Given the description of an element on the screen output the (x, y) to click on. 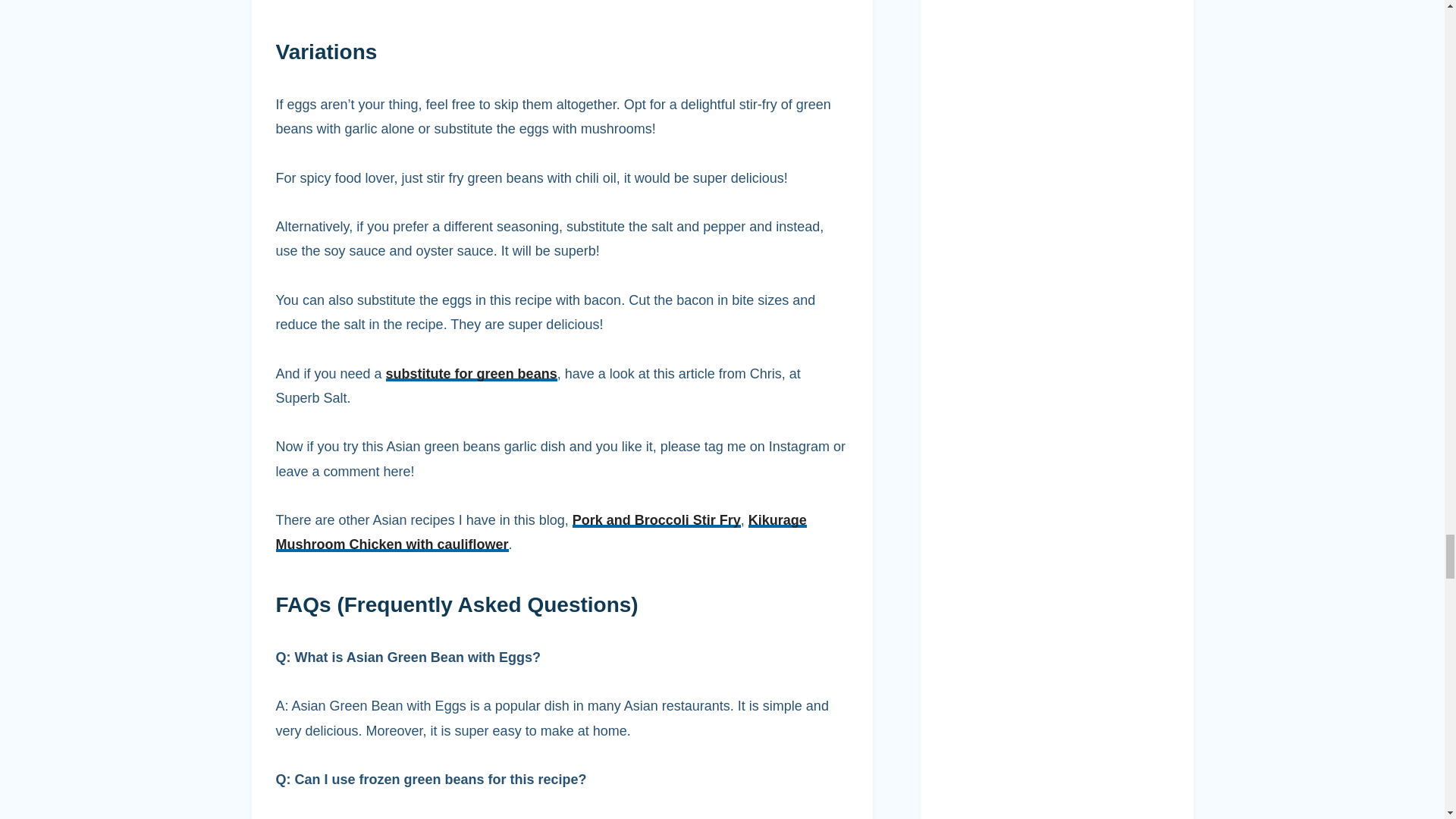
Pork and Broccoli Stir Fry (656, 519)
Kikurage Mushroom Chicken with cauliflower (541, 532)
substitute for green beans (471, 372)
